Given the description of an element on the screen output the (x, y) to click on. 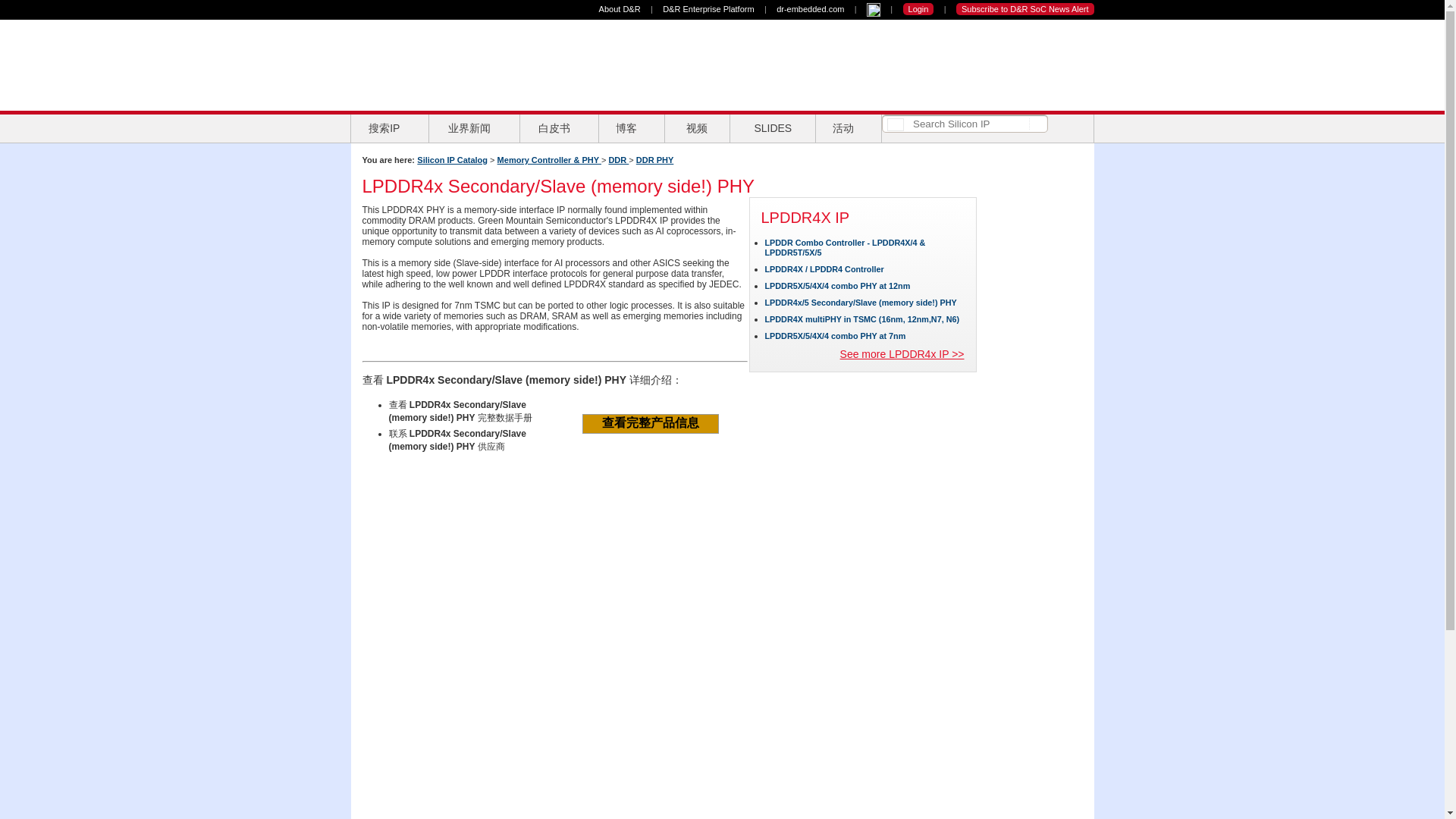
search filter (895, 124)
Login (918, 9)
dr-embedded.com (810, 8)
search (1036, 123)
Design And Reuse (431, 64)
